Given the description of an element on the screen output the (x, y) to click on. 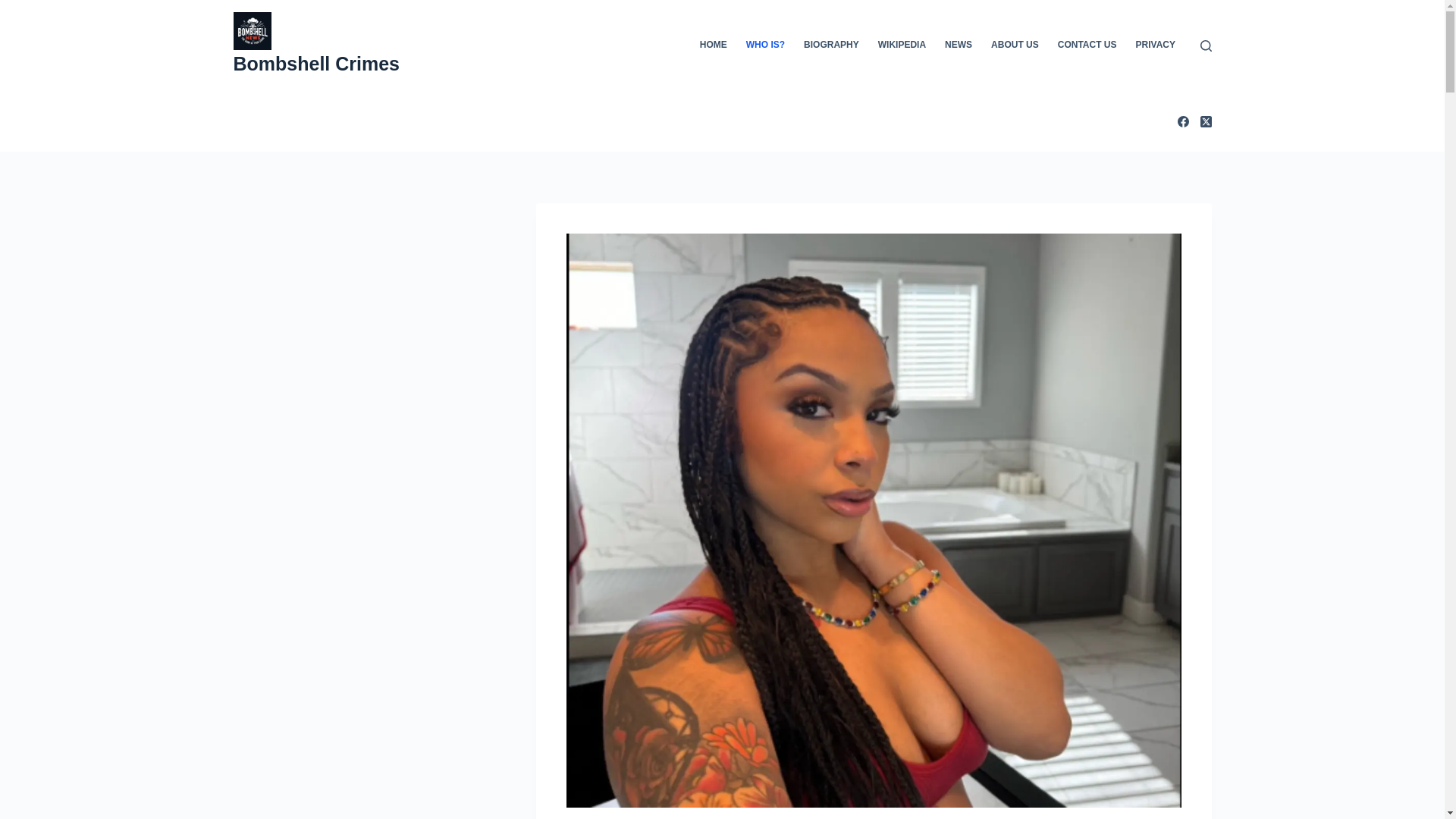
Skip to content (15, 7)
Bombshell Crimes (316, 63)
